Given the description of an element on the screen output the (x, y) to click on. 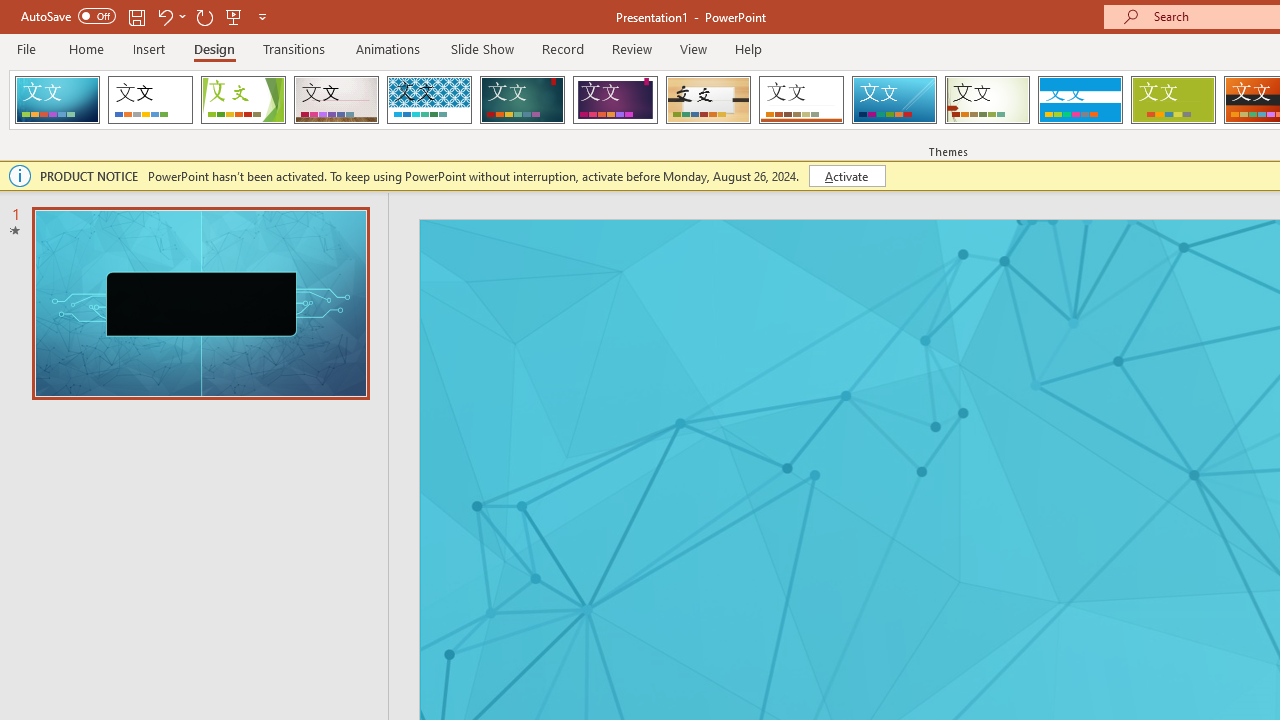
Ion (522, 100)
Slice (893, 100)
Integral (429, 100)
FadeVTI (57, 100)
Retrospect (801, 100)
Gallery (336, 100)
Facet (243, 100)
